Given the description of an element on the screen output the (x, y) to click on. 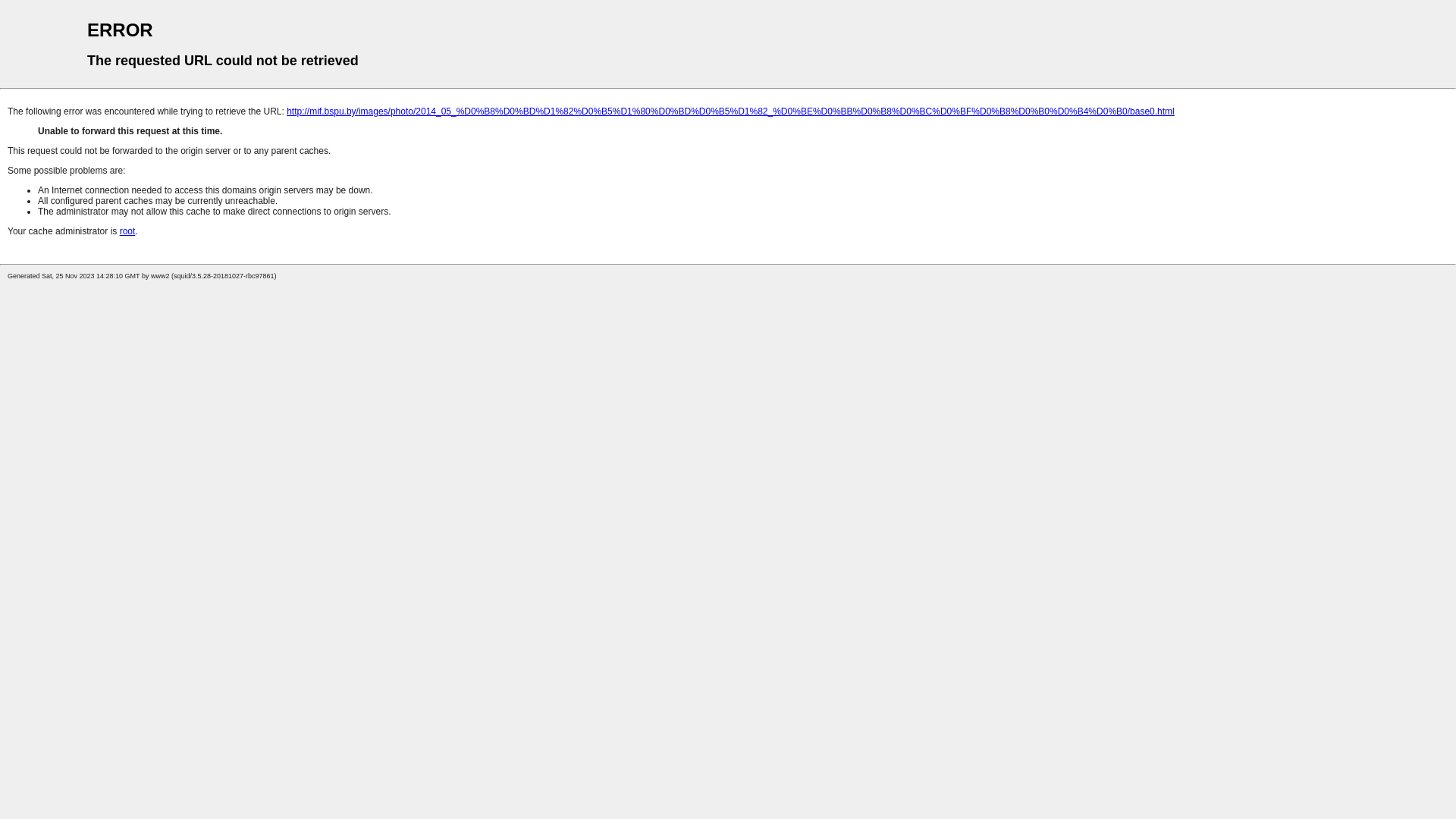
root Element type: text (127, 230)
